Given the description of an element on the screen output the (x, y) to click on. 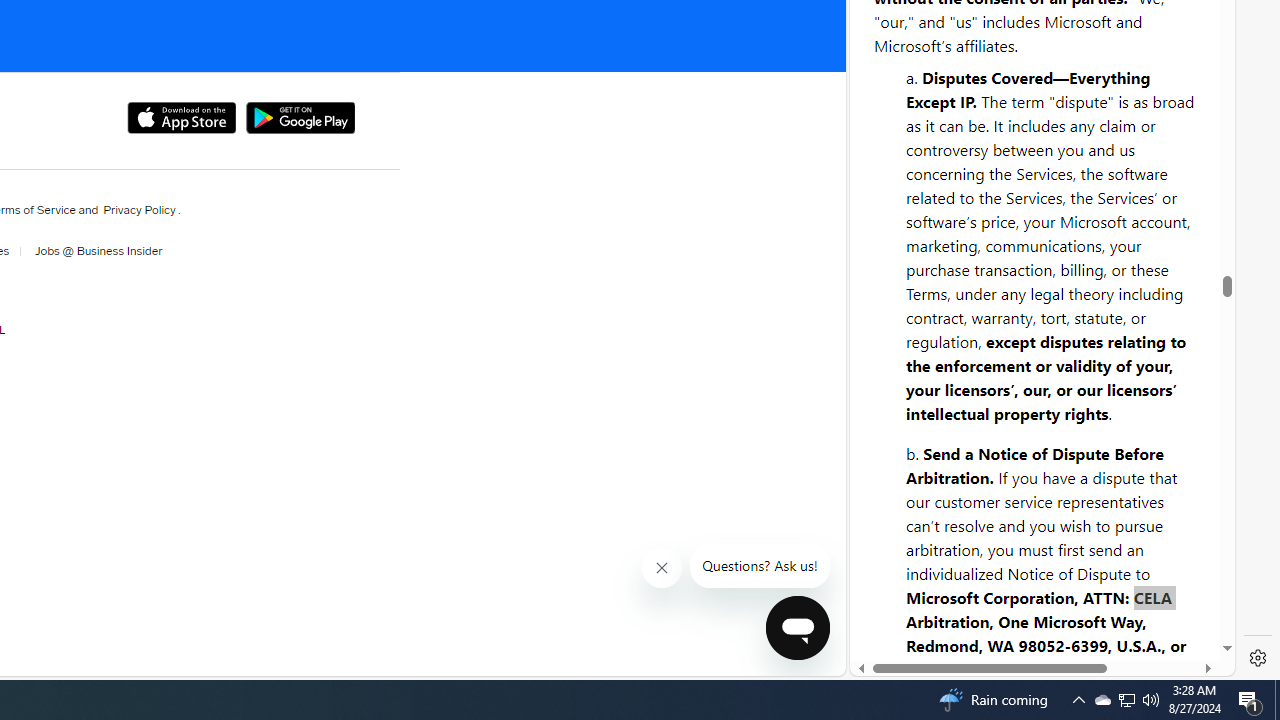
Open in New Tab (1042, 631)
Download on the App Store (180, 117)
Open messaging window (797, 628)
Jobs @ Business Insider (92, 251)
Get it on Google Play (299, 117)
Privacy Policy (139, 209)
